Given the description of an element on the screen output the (x, y) to click on. 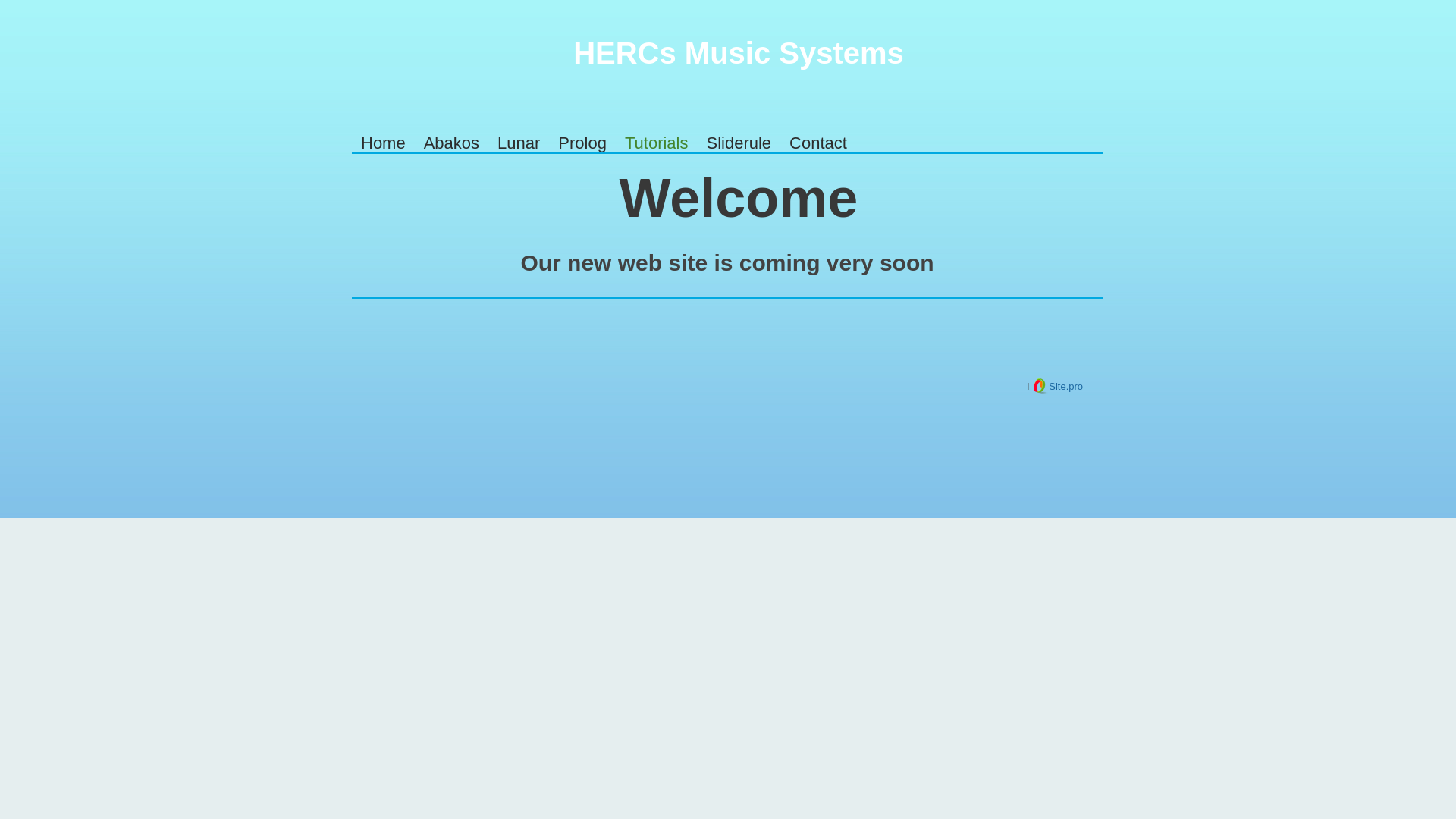
Abakos Element type: text (451, 142)
Tutorials Element type: text (656, 142)
Home Element type: text (383, 142)
Prolog Element type: text (582, 142)
Sliderule Element type: text (739, 142)
Site.pro Element type: text (1065, 386)
Contact Element type: text (817, 142)
Lunar Element type: text (518, 142)
